Given the description of an element on the screen output the (x, y) to click on. 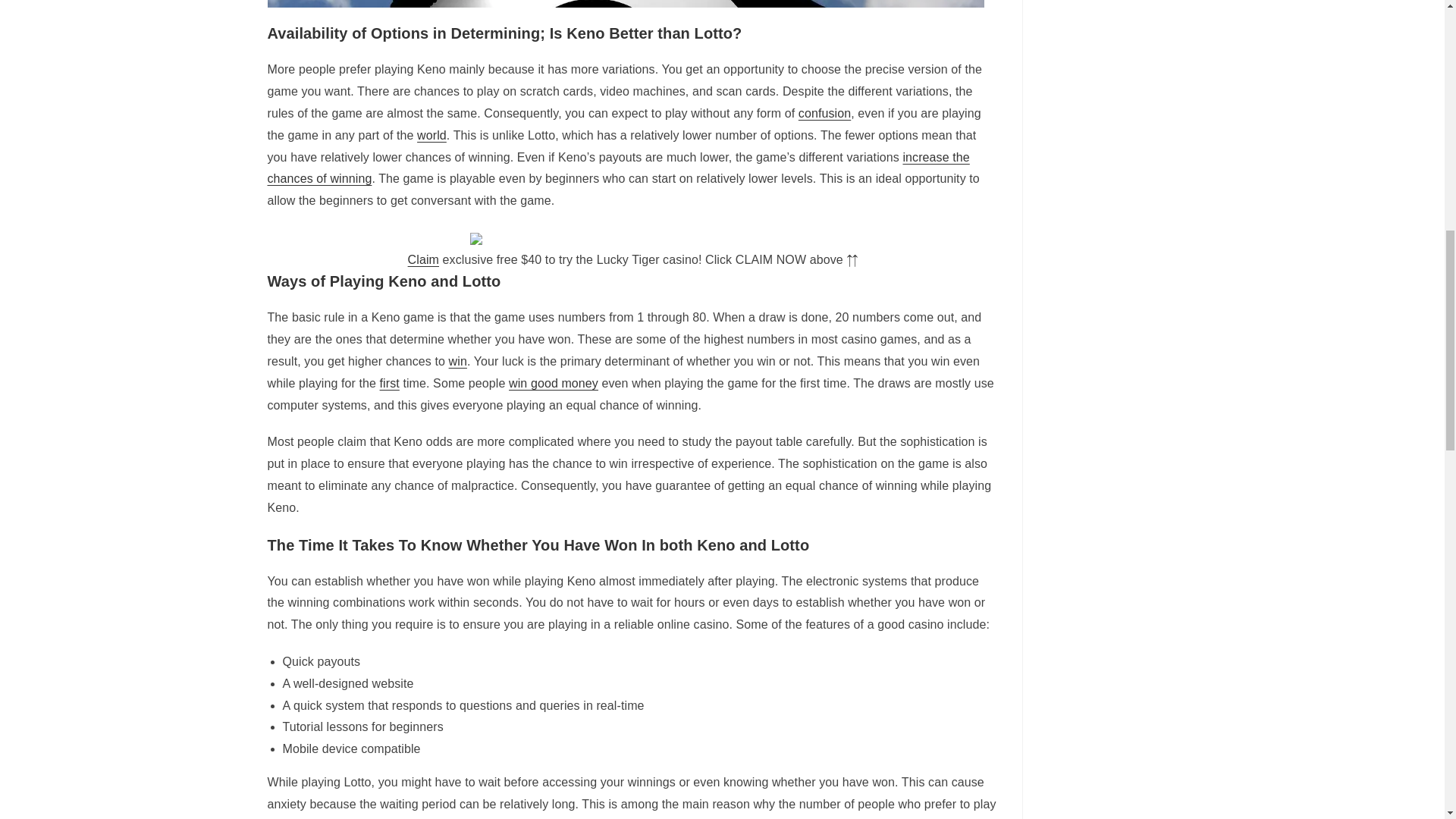
first (389, 382)
confusion (823, 113)
win (457, 360)
increase the chances of winning (617, 167)
Claim (423, 259)
win good money (553, 382)
world (431, 134)
